Given the description of an element on the screen output the (x, y) to click on. 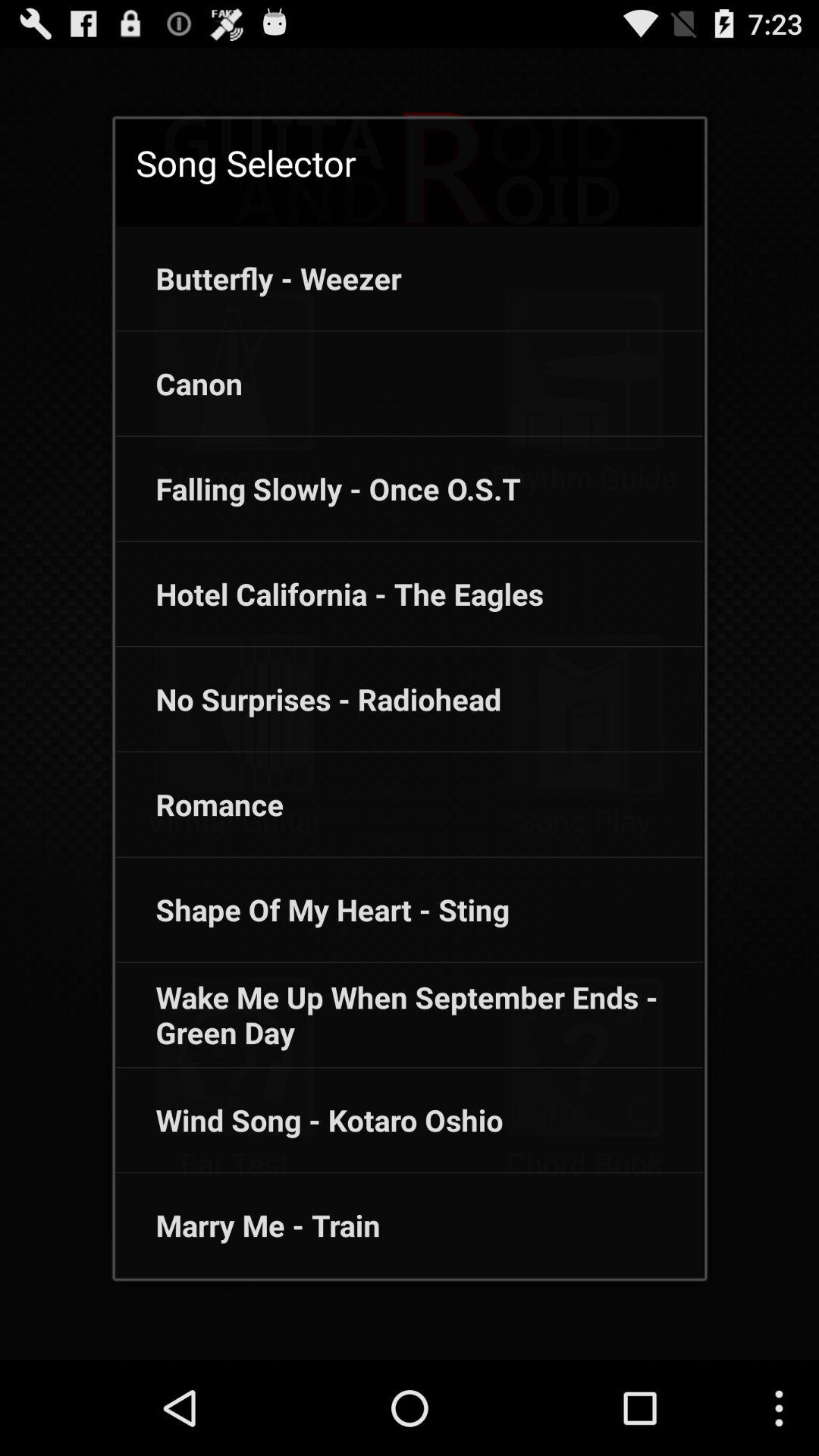
open the canon (179, 383)
